Given the description of an element on the screen output the (x, y) to click on. 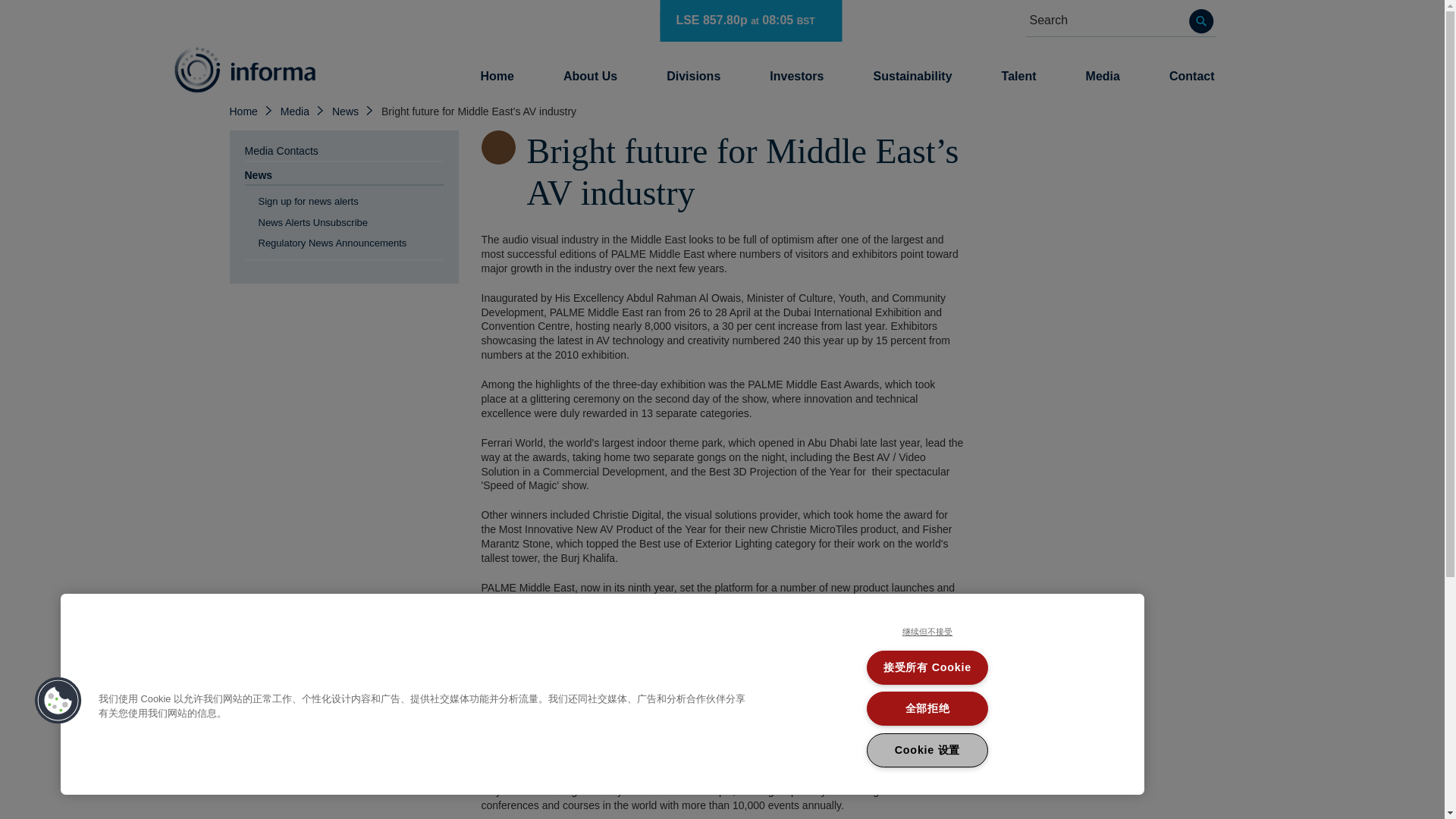
About Us (590, 76)
Search (1201, 21)
Share Price (750, 21)
Search (1201, 21)
Cookies Button (57, 700)
Search (1201, 21)
Home (496, 76)
Divisions (693, 76)
Sustainability (912, 76)
Investors (796, 76)
